Given the description of an element on the screen output the (x, y) to click on. 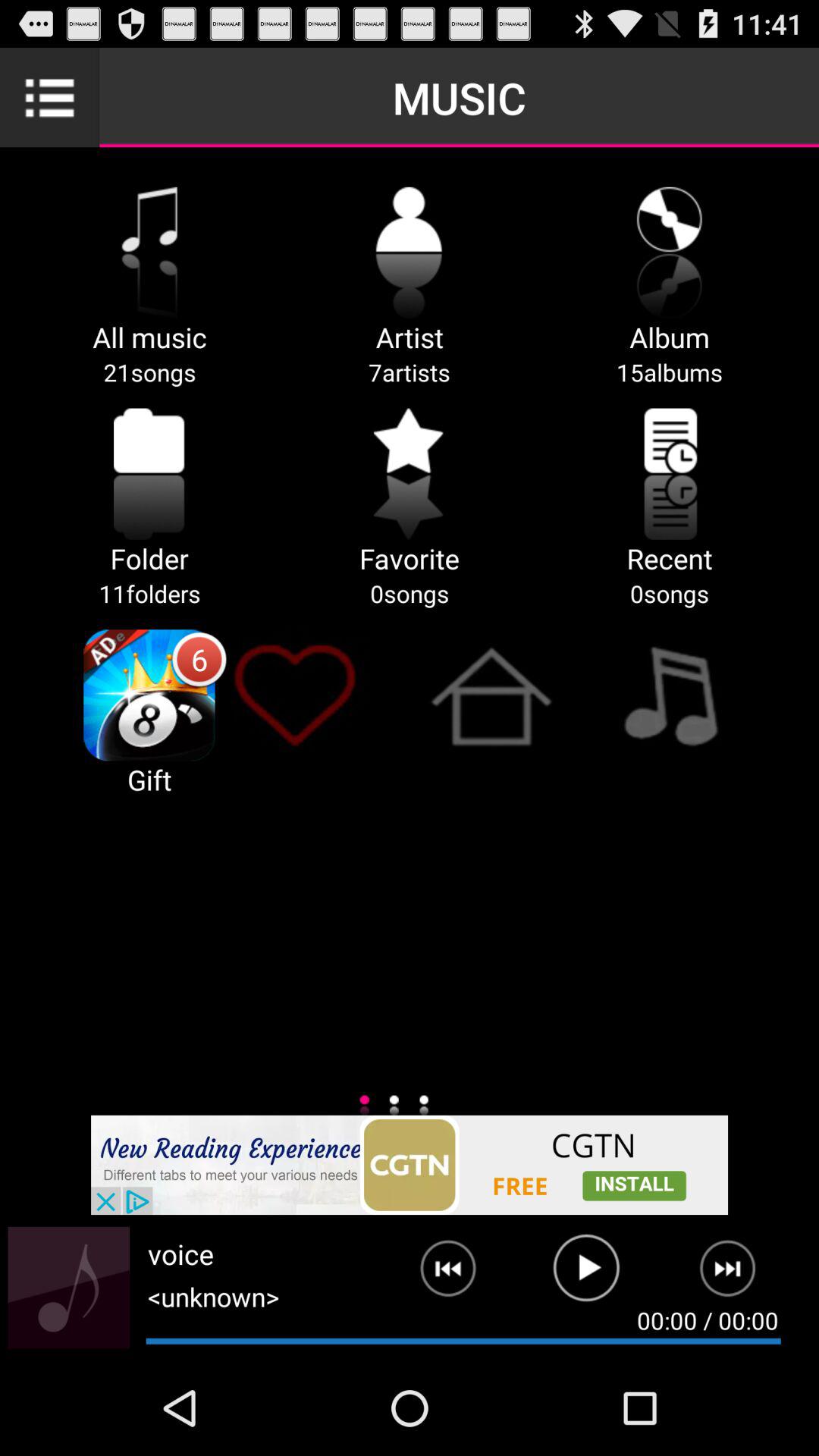
visit advertisement (409, 1164)
